Given the description of an element on the screen output the (x, y) to click on. 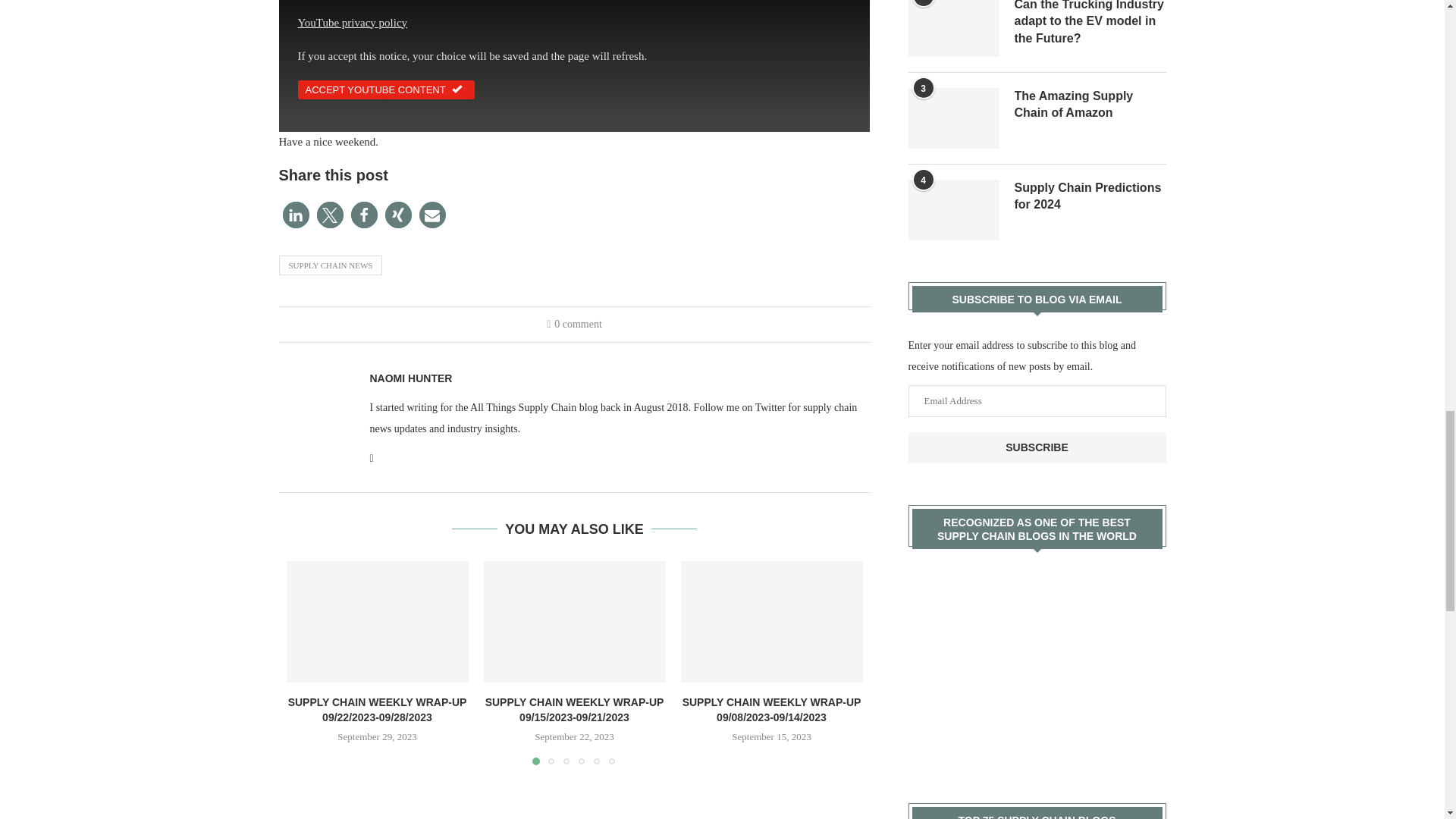
Share on Facebook (363, 214)
YouTube privacy policy (352, 22)
Share on X (330, 214)
Author Naomi Hunter (410, 378)
Send by email (432, 214)
ACCEPT YOUTUBE CONTENT (385, 89)
Share on XING (398, 214)
Share on LinkedIn (295, 214)
